Given the description of an element on the screen output the (x, y) to click on. 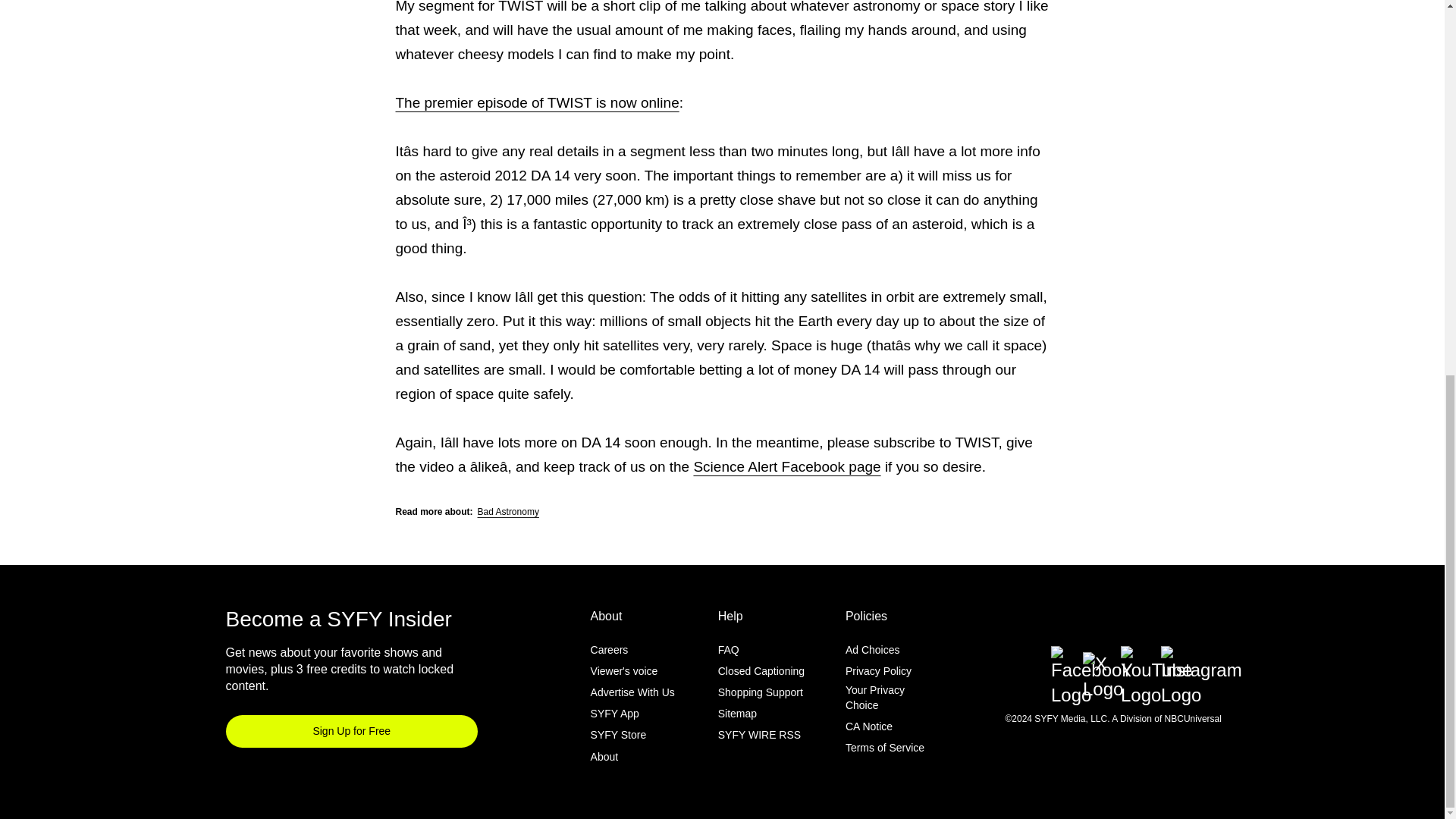
Science Alert Facebook page (786, 466)
Advertise With Us (633, 692)
Bad Astronomy (507, 511)
The premier episode of TWIST is now online (537, 102)
